Given the description of an element on the screen output the (x, y) to click on. 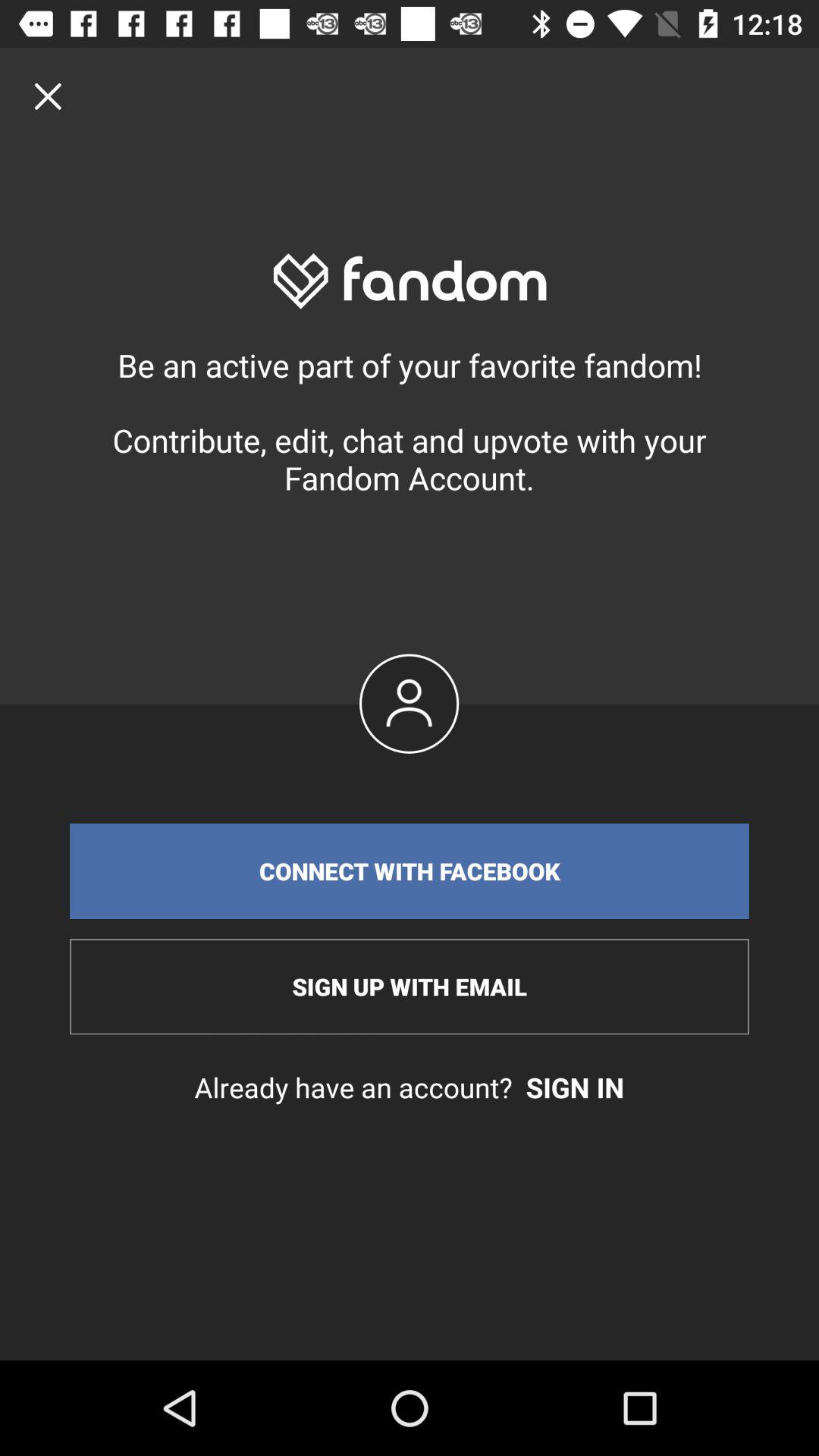
click close (47, 95)
